Given the description of an element on the screen output the (x, y) to click on. 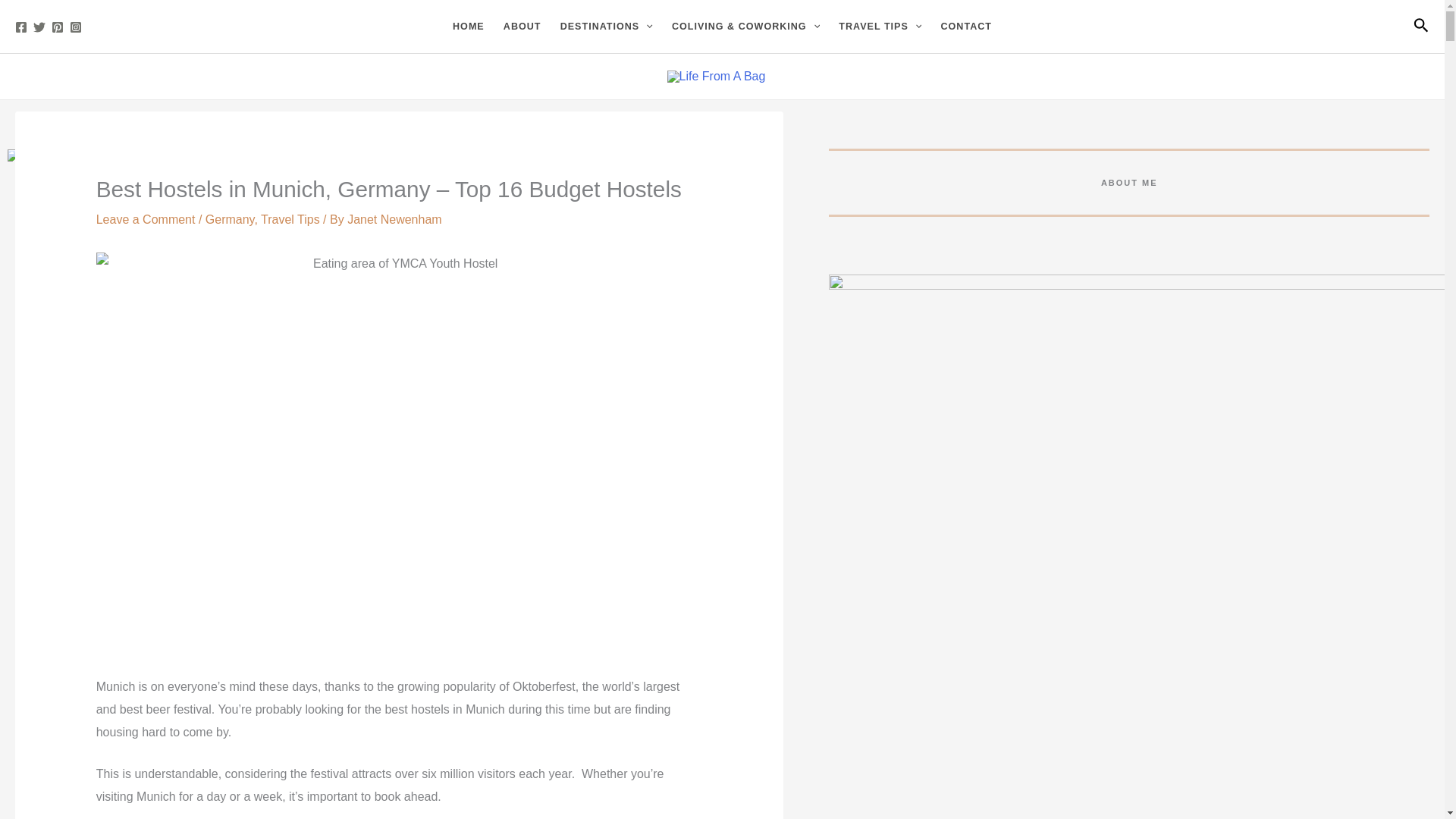
CONTACT (966, 26)
TRAVEL TIPS (880, 26)
View all posts by Janet Newenham (394, 219)
HOME (467, 26)
DESTINATIONS (606, 26)
ABOUT (521, 26)
